Given the description of an element on the screen output the (x, y) to click on. 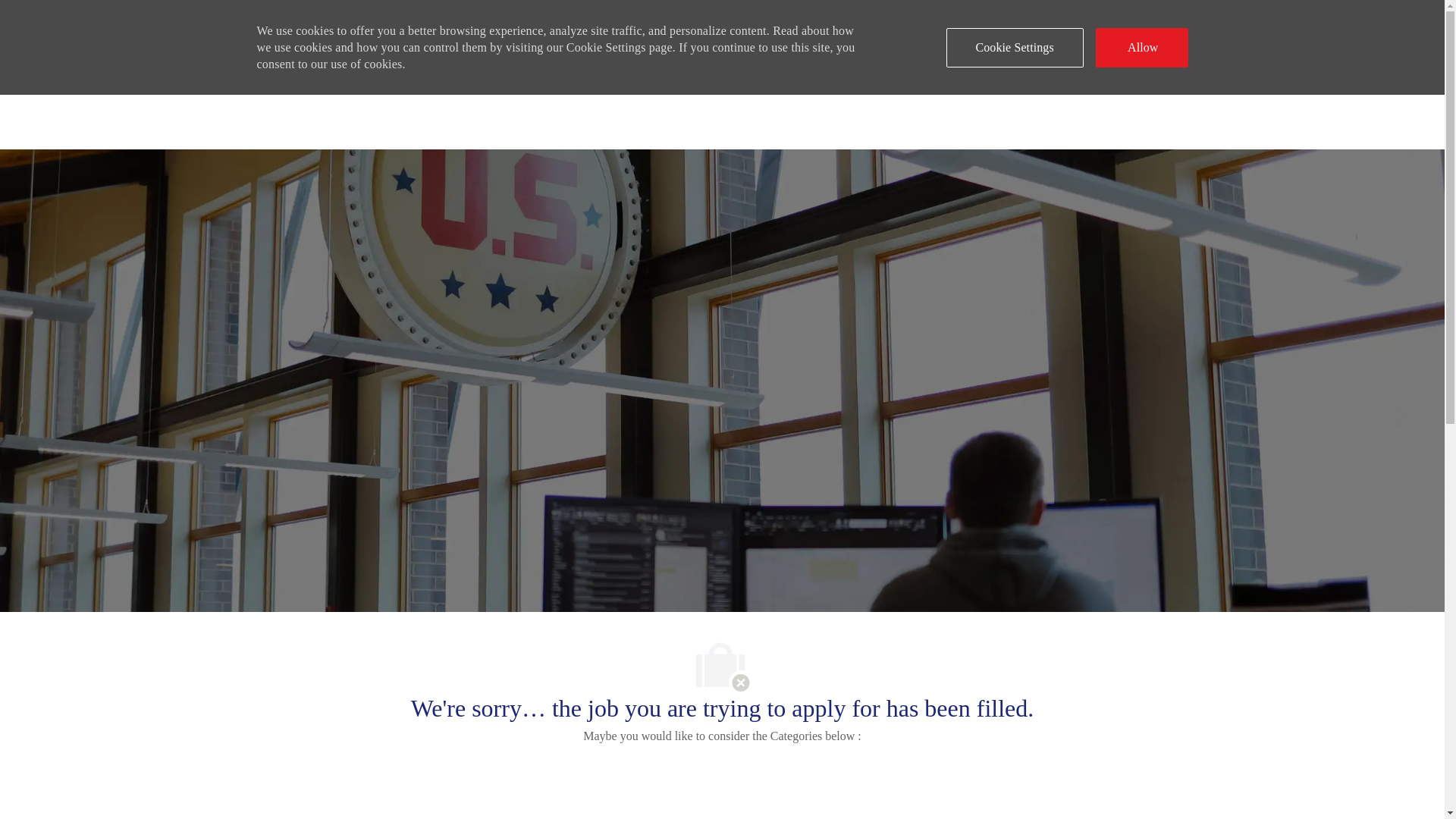
Cookie Settings (1014, 47)
Allow (1142, 47)
